Given the description of an element on the screen output the (x, y) to click on. 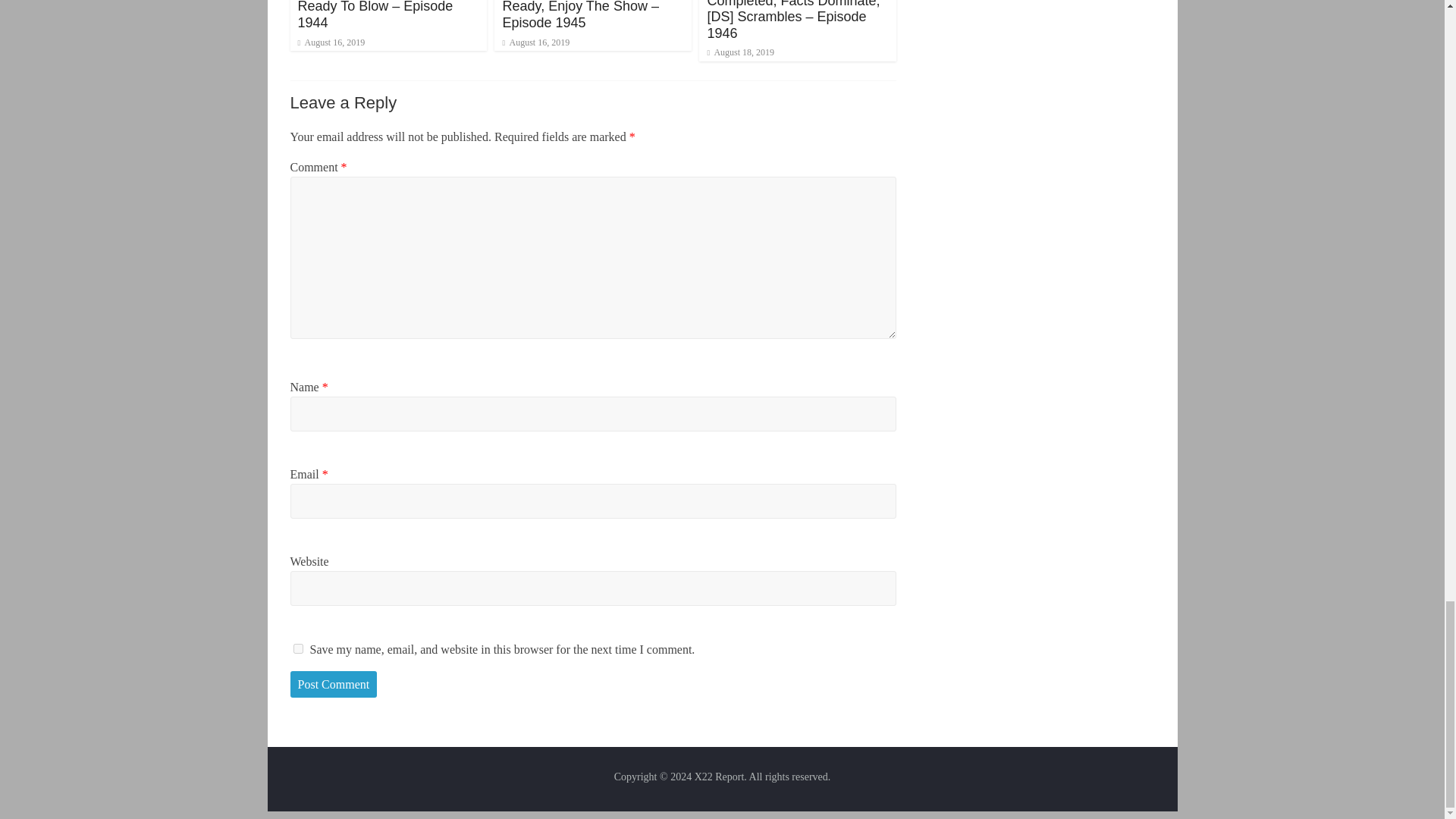
Post Comment (333, 684)
yes (297, 648)
12:40 am (331, 41)
